Given the description of an element on the screen output the (x, y) to click on. 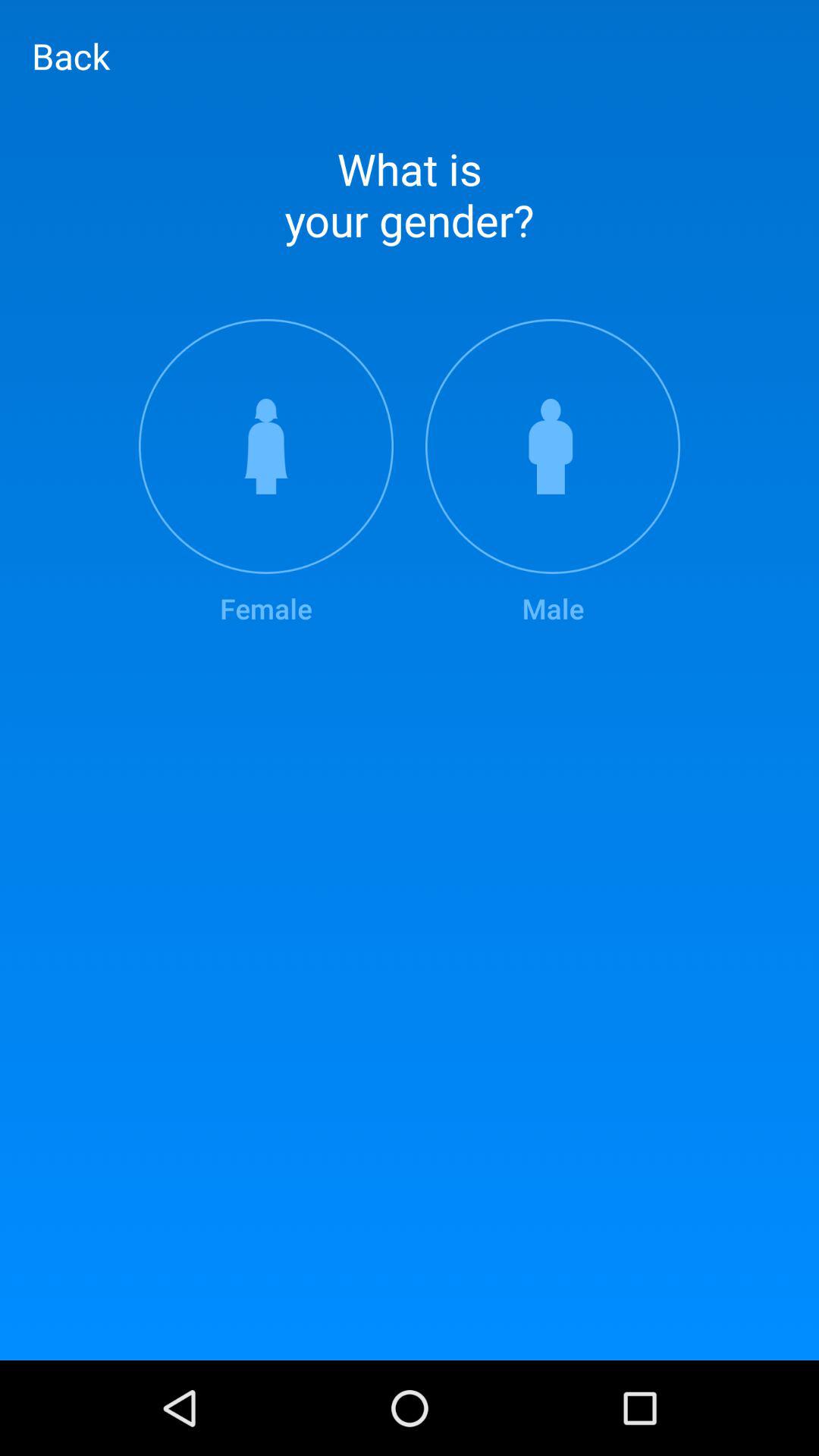
open the icon below what is your item (265, 473)
